Given the description of an element on the screen output the (x, y) to click on. 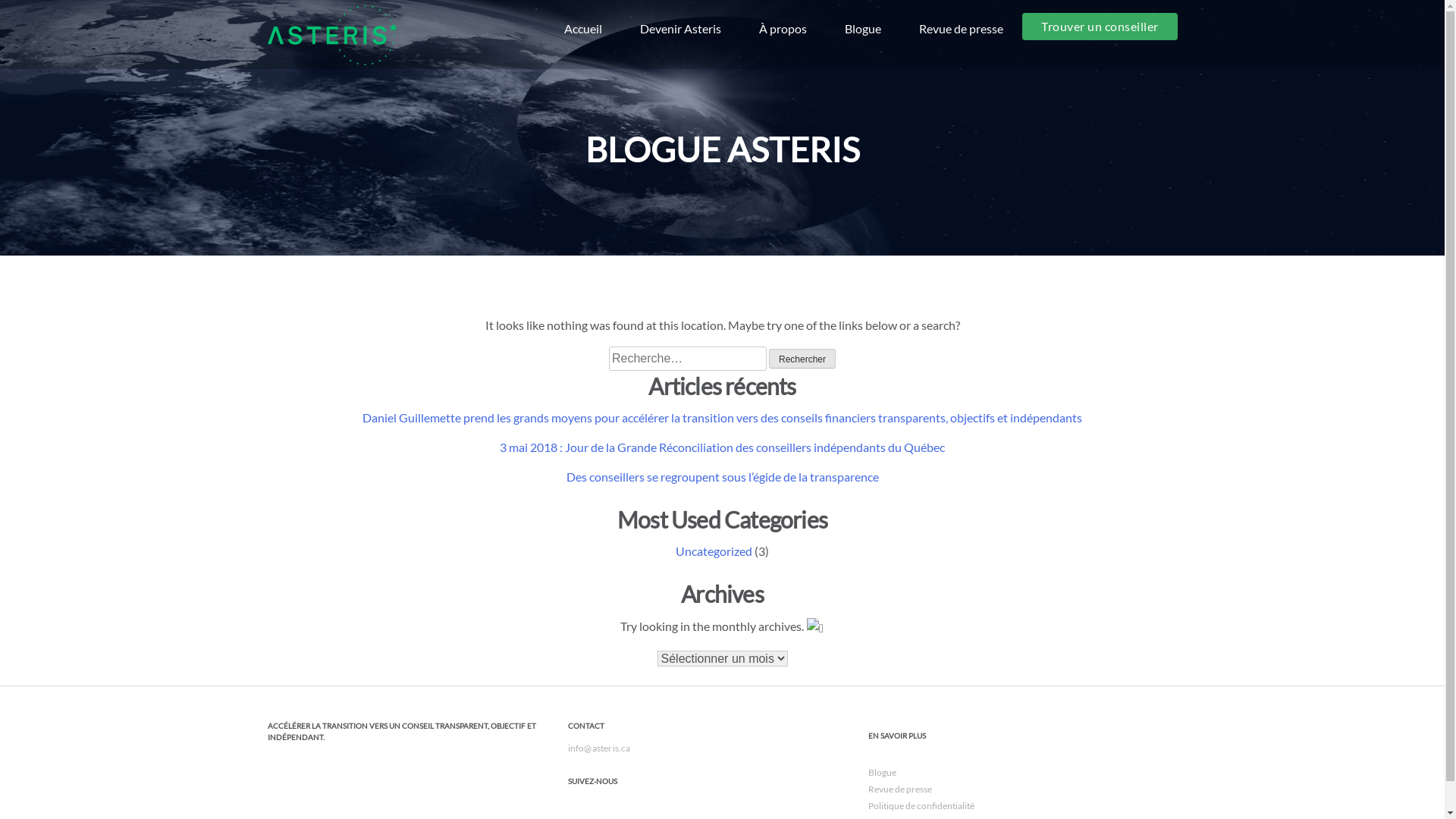
Rechercher Element type: text (801, 358)
Blogue Element type: text (862, 28)
Trouver un conseiller Element type: text (1099, 26)
Devenir Asteris Element type: text (680, 28)
Blogue Element type: text (881, 772)
Accueil Element type: text (583, 28)
Revue de presse Element type: text (961, 28)
Revue de presse Element type: text (899, 788)
Uncategorized Element type: text (713, 550)
info@asteris.ca Element type: text (598, 747)
